Given the description of an element on the screen output the (x, y) to click on. 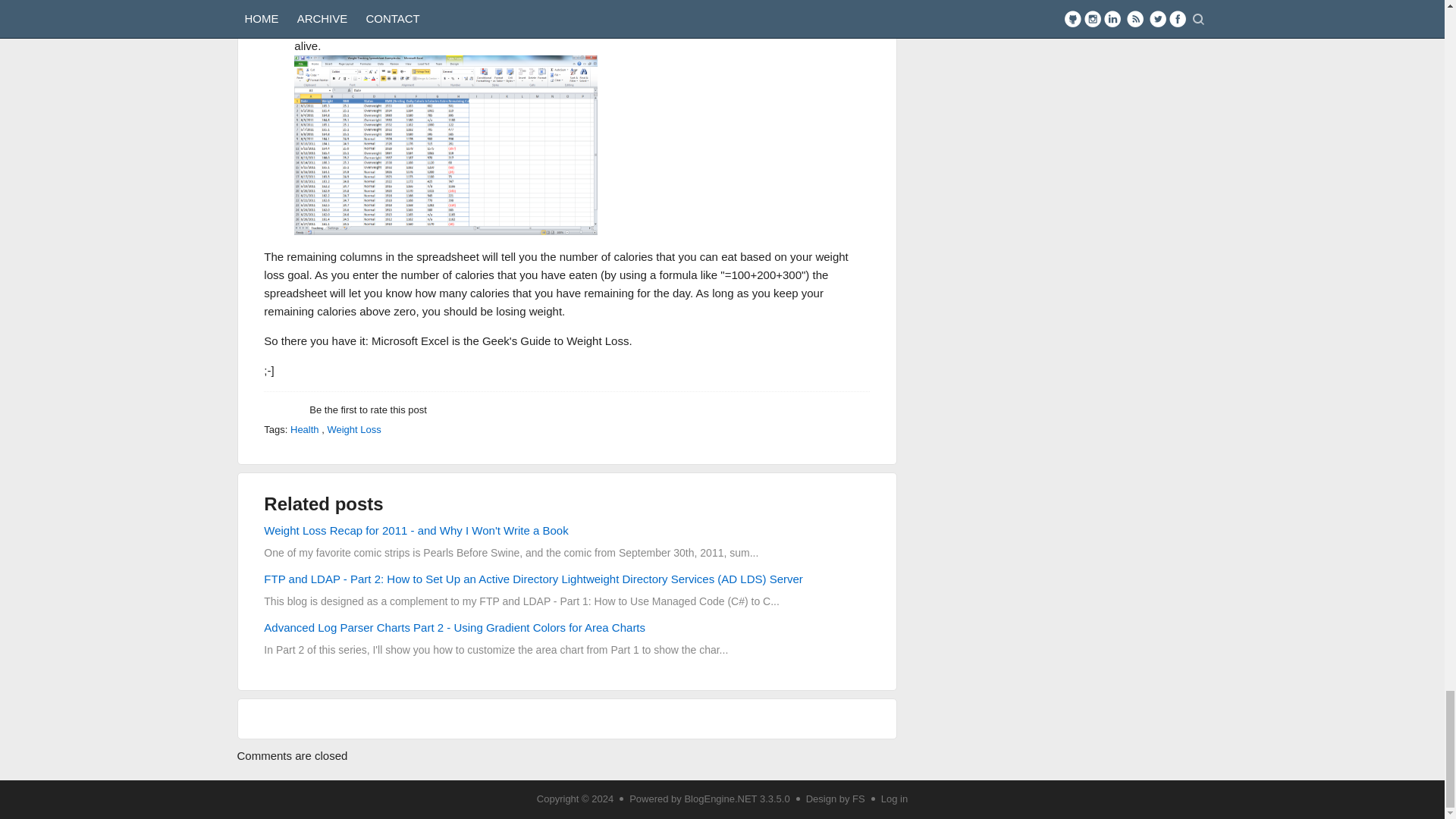
2 (271, 416)
1 (266, 416)
